Given the description of an element on the screen output the (x, y) to click on. 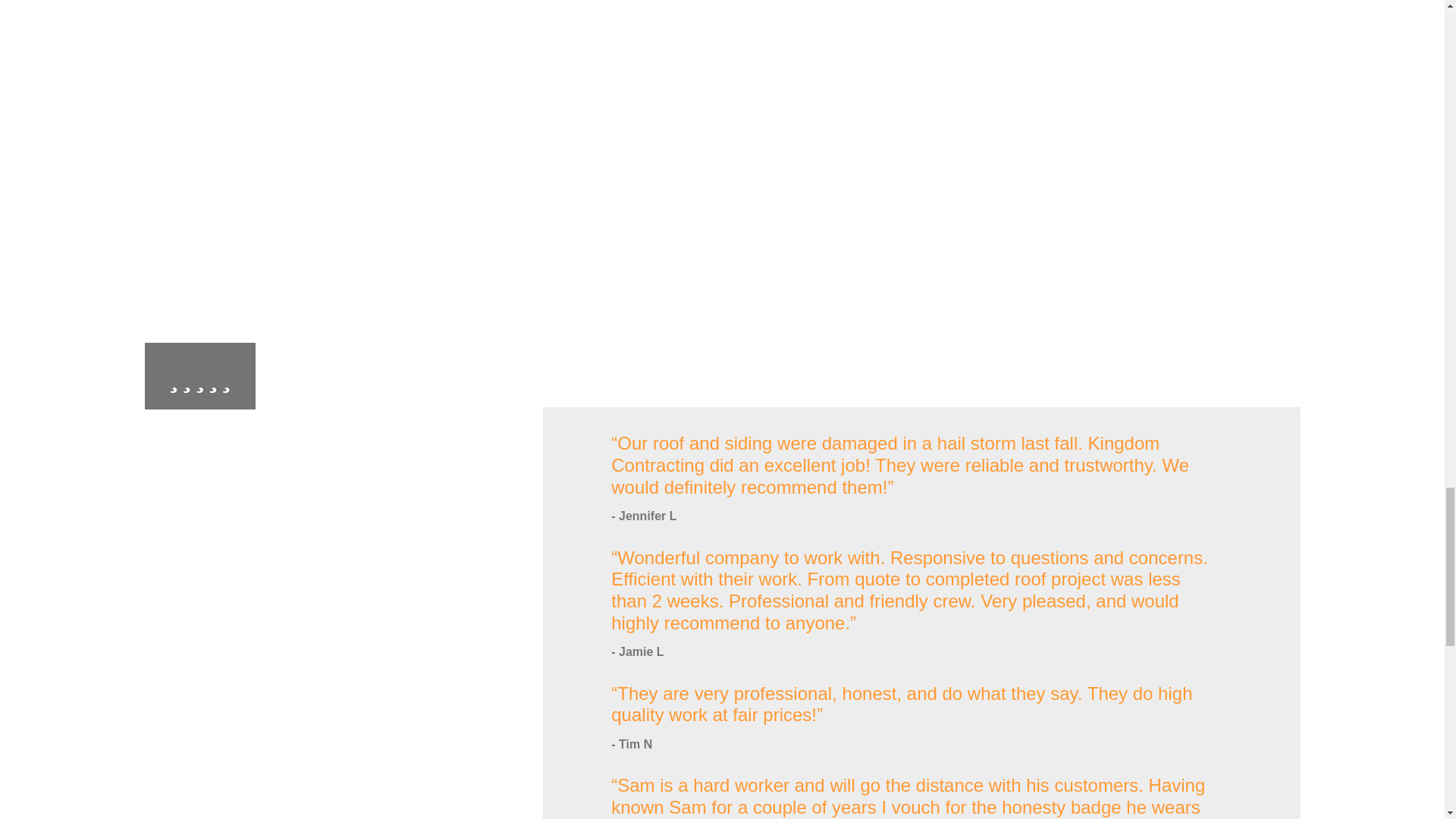
Gallery Image (1020, 17)
Gallery Image (423, 104)
Gallery Image (870, 126)
